Given the description of an element on the screen output the (x, y) to click on. 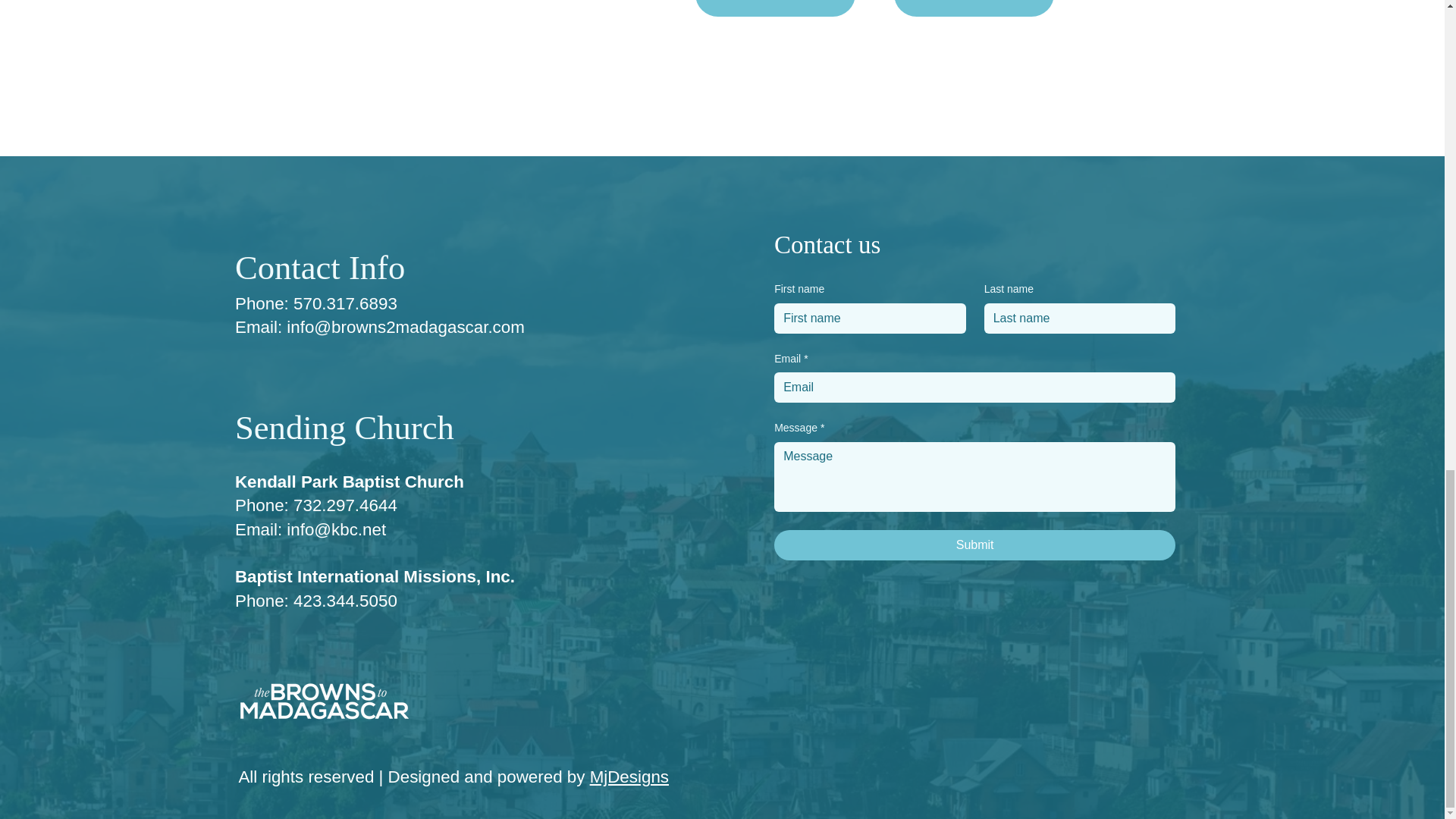
Our Testimonies (775, 8)
Submit (974, 544)
MjDesigns (628, 776)
Our Beliefs (973, 8)
